Given the description of an element on the screen output the (x, y) to click on. 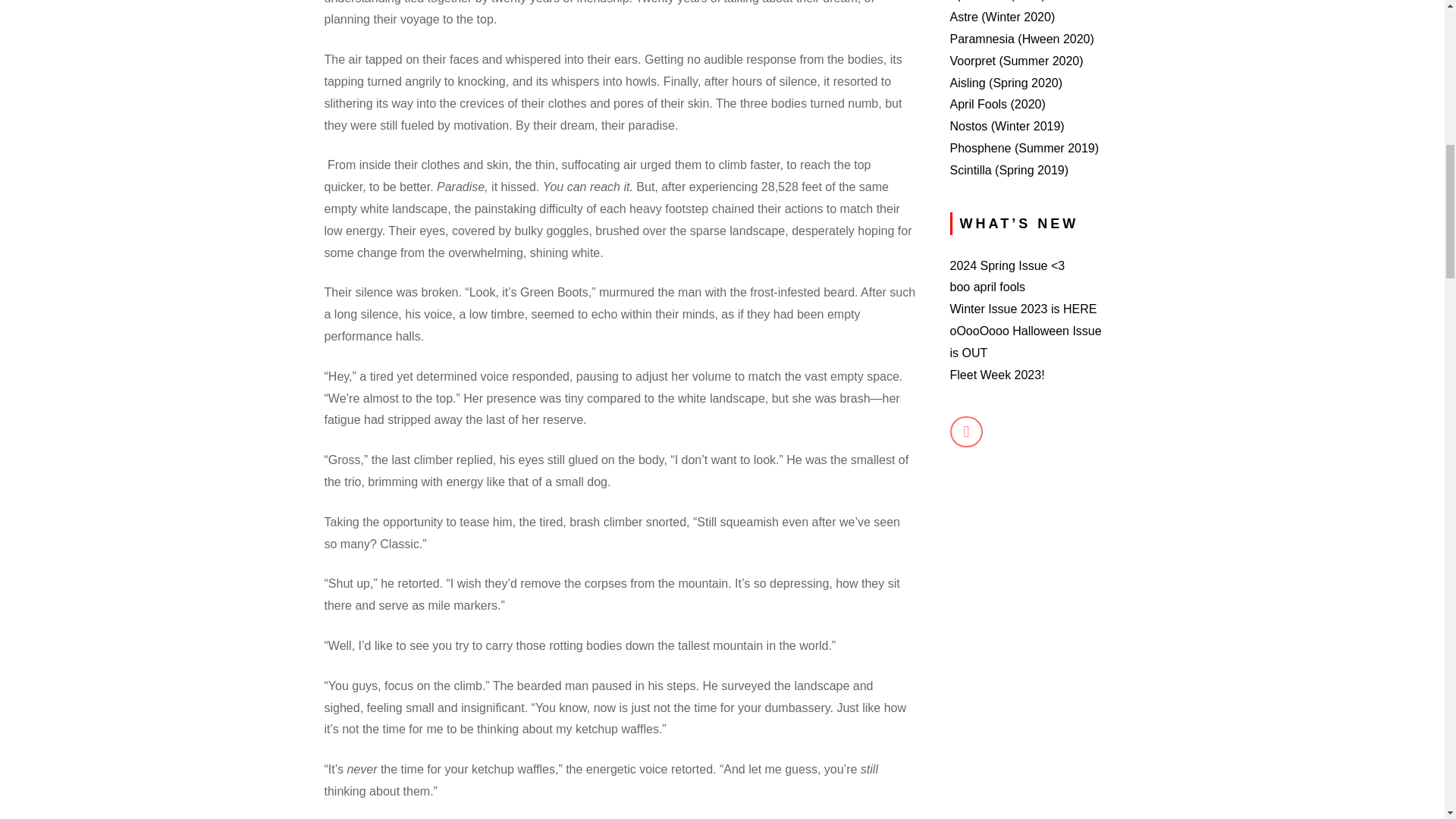
oOooOooo Halloween Issue is OUT (1024, 341)
boo april fools (987, 286)
Winter Issue 2023 is HERE (1022, 308)
